Given the description of an element on the screen output the (x, y) to click on. 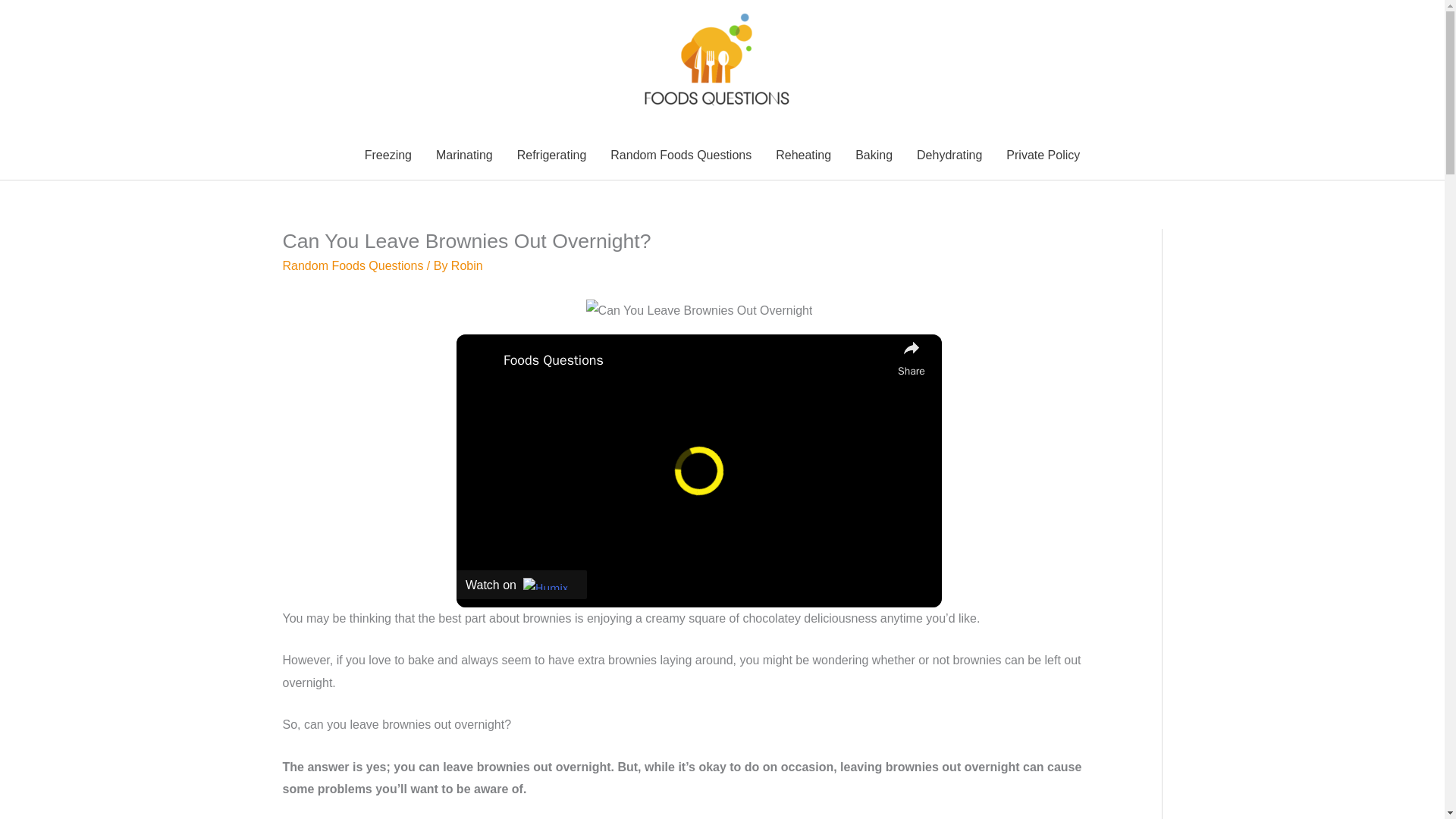
Dehydrating (949, 155)
Refrigerating (551, 155)
View all posts by Robin (467, 265)
Baking (873, 155)
Robin (467, 265)
Foods Questions (696, 360)
Reheating (802, 155)
Private Policy (1043, 155)
Random Foods Questions (680, 155)
Random Foods Questions (352, 265)
